Given the description of an element on the screen output the (x, y) to click on. 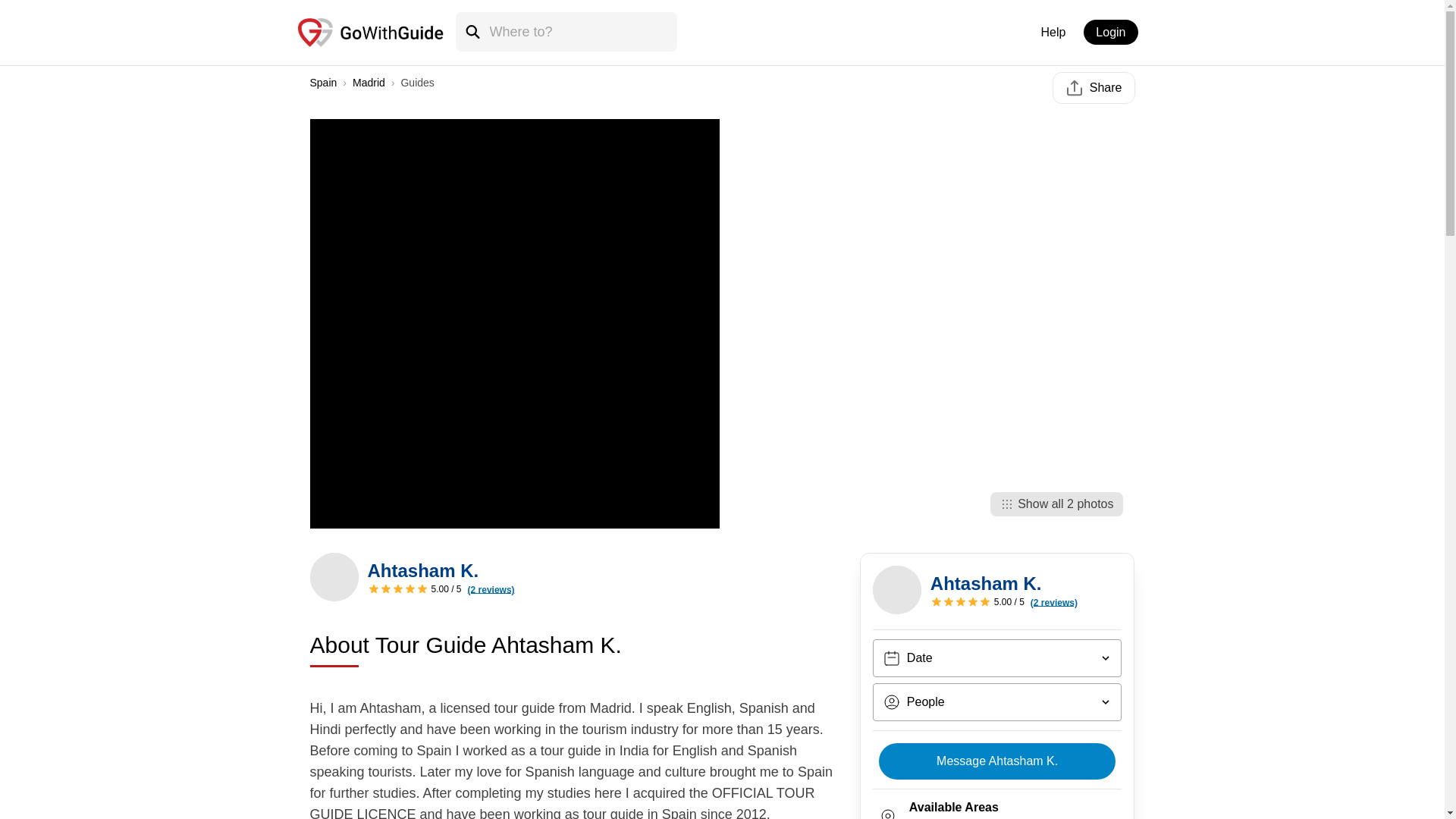
Show all 2 photos (1056, 504)
Madrid (368, 82)
Share (1093, 87)
Help (1053, 31)
Login (1110, 32)
Spain (322, 82)
GoWithGuide (1074, 87)
